Given the description of an element on the screen output the (x, y) to click on. 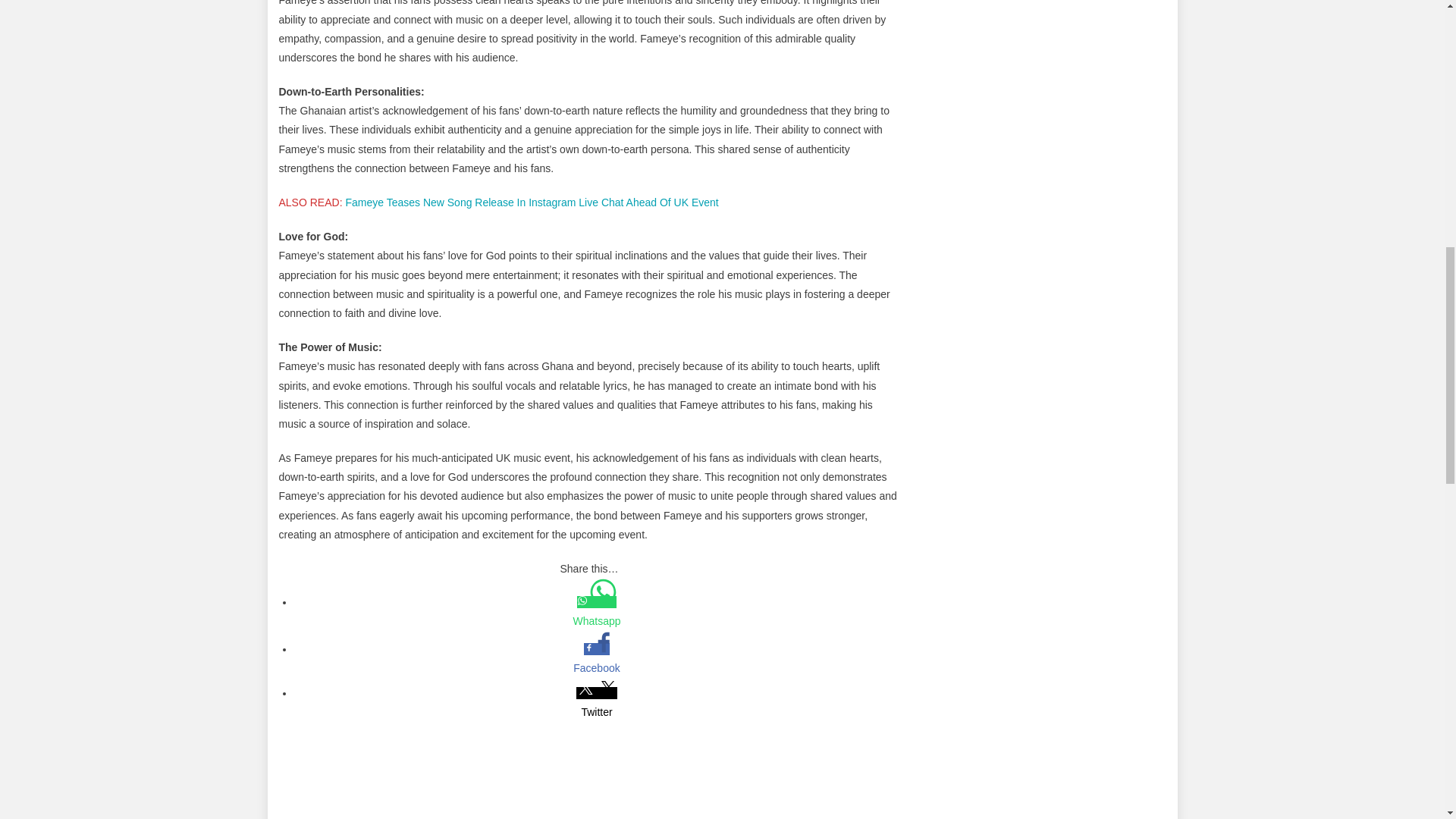
Whatsapp (596, 620)
Facebook (596, 660)
Facebook (596, 668)
Whatsapp (596, 613)
Twitter (596, 711)
Twitter (596, 704)
